Given the description of an element on the screen output the (x, y) to click on. 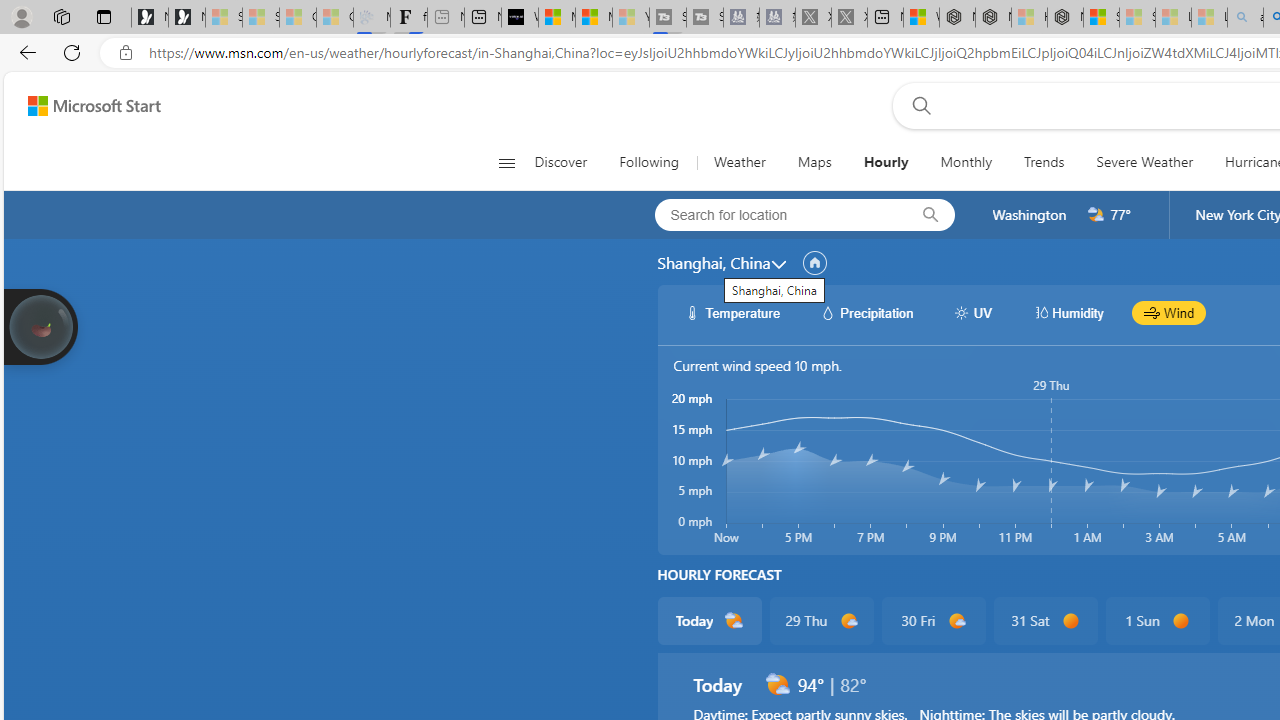
hourlyChart/windBlack (1152, 312)
hourlyChart/humidityWhite Humidity (1068, 312)
